Given the description of an element on the screen output the (x, y) to click on. 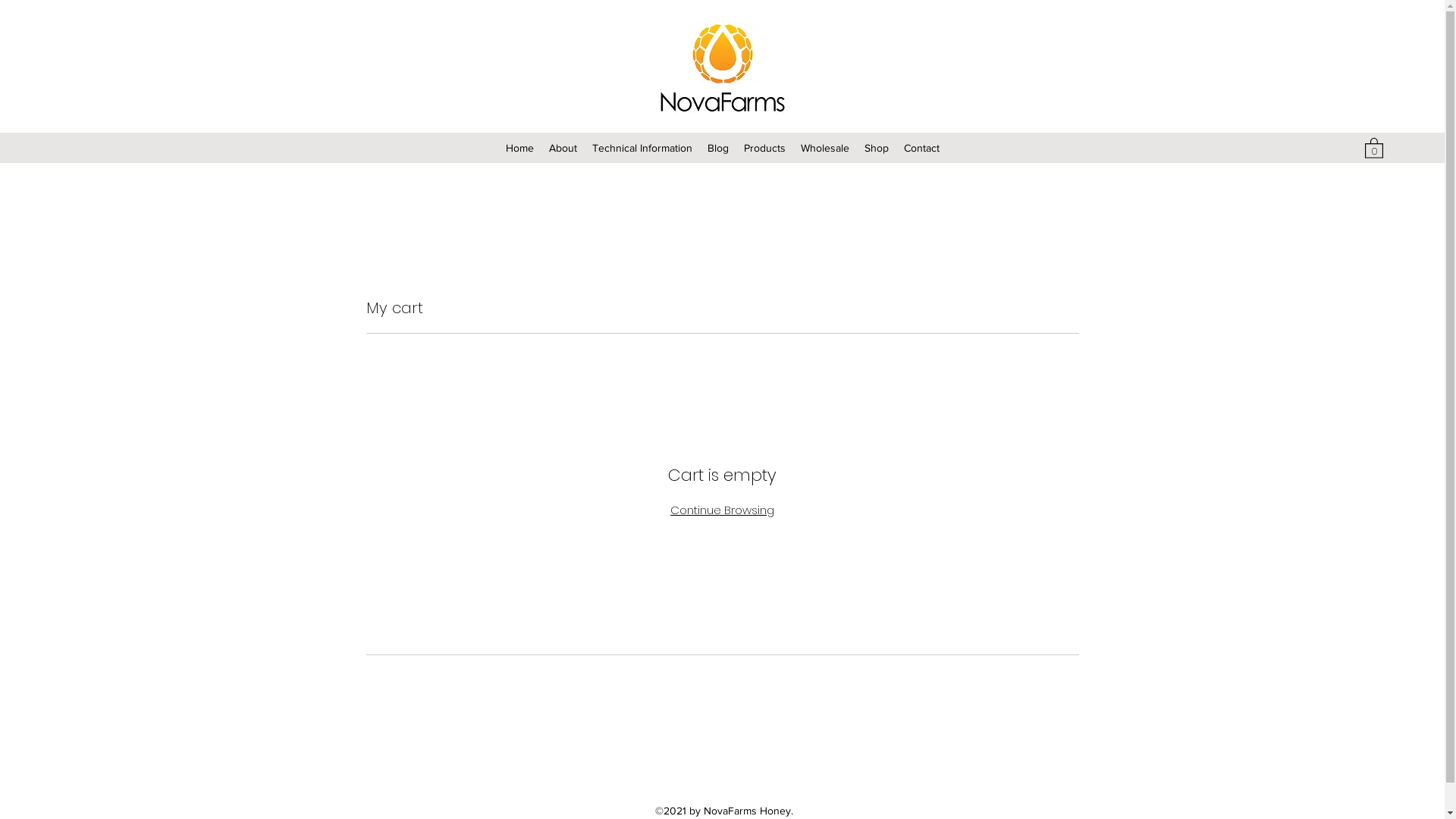
Continue Browsing Element type: text (722, 509)
Shop Element type: text (876, 147)
Products Element type: text (763, 147)
Technical Information Element type: text (641, 147)
About Element type: text (562, 147)
Wholesale Element type: text (824, 147)
Home Element type: text (518, 147)
Blog Element type: text (717, 147)
Contact Element type: text (921, 147)
0 Element type: text (1374, 147)
